Given the description of an element on the screen output the (x, y) to click on. 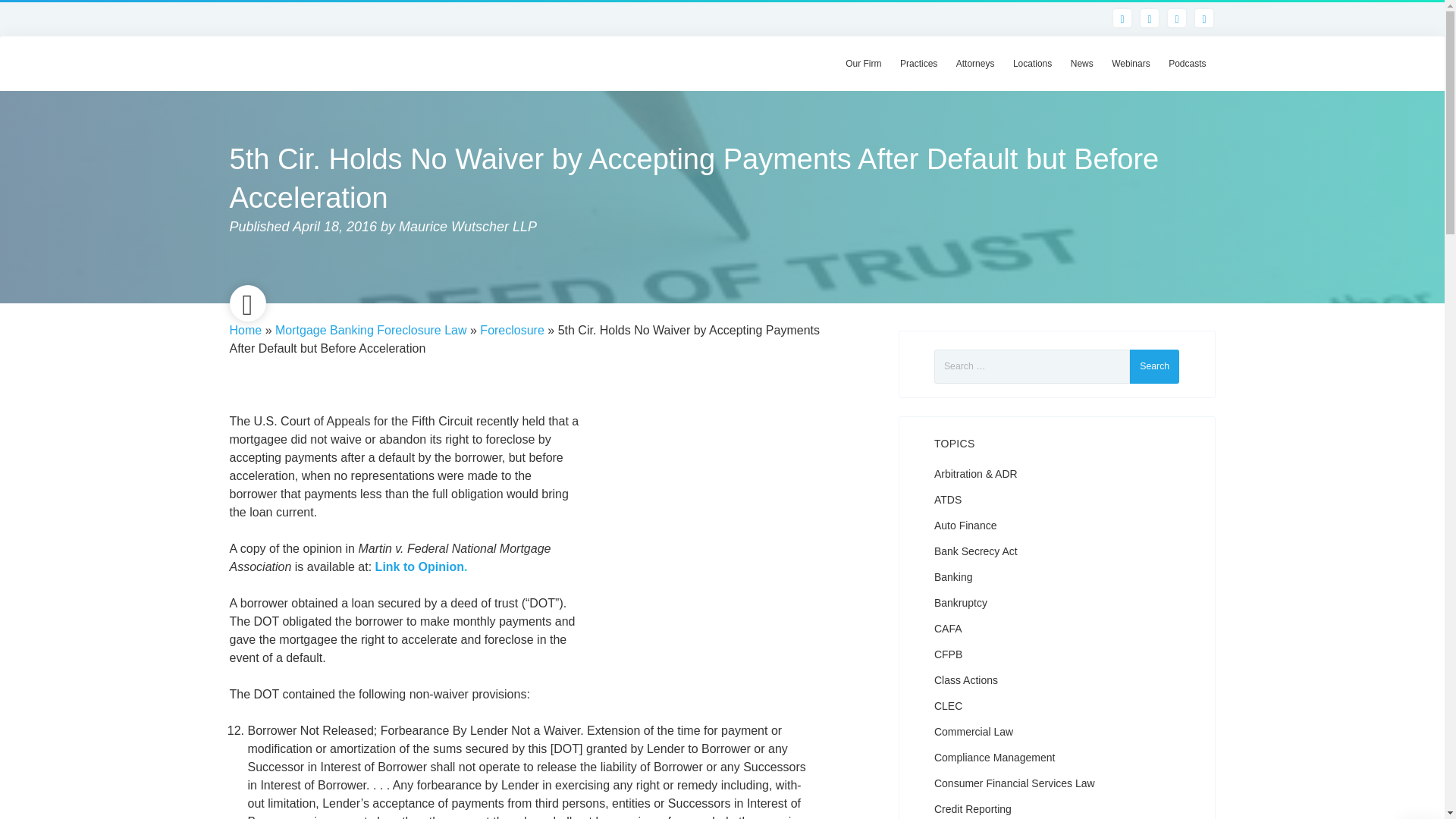
News (1081, 62)
Link to Opinion (419, 566)
CFPB (948, 653)
Mortgage Banking Foreclosure Law (371, 329)
Search (1154, 366)
Podcasts (1186, 62)
Class Actions (965, 679)
Banking (953, 576)
Commercial Law (973, 730)
Foreclosure (511, 329)
